Given the description of an element on the screen output the (x, y) to click on. 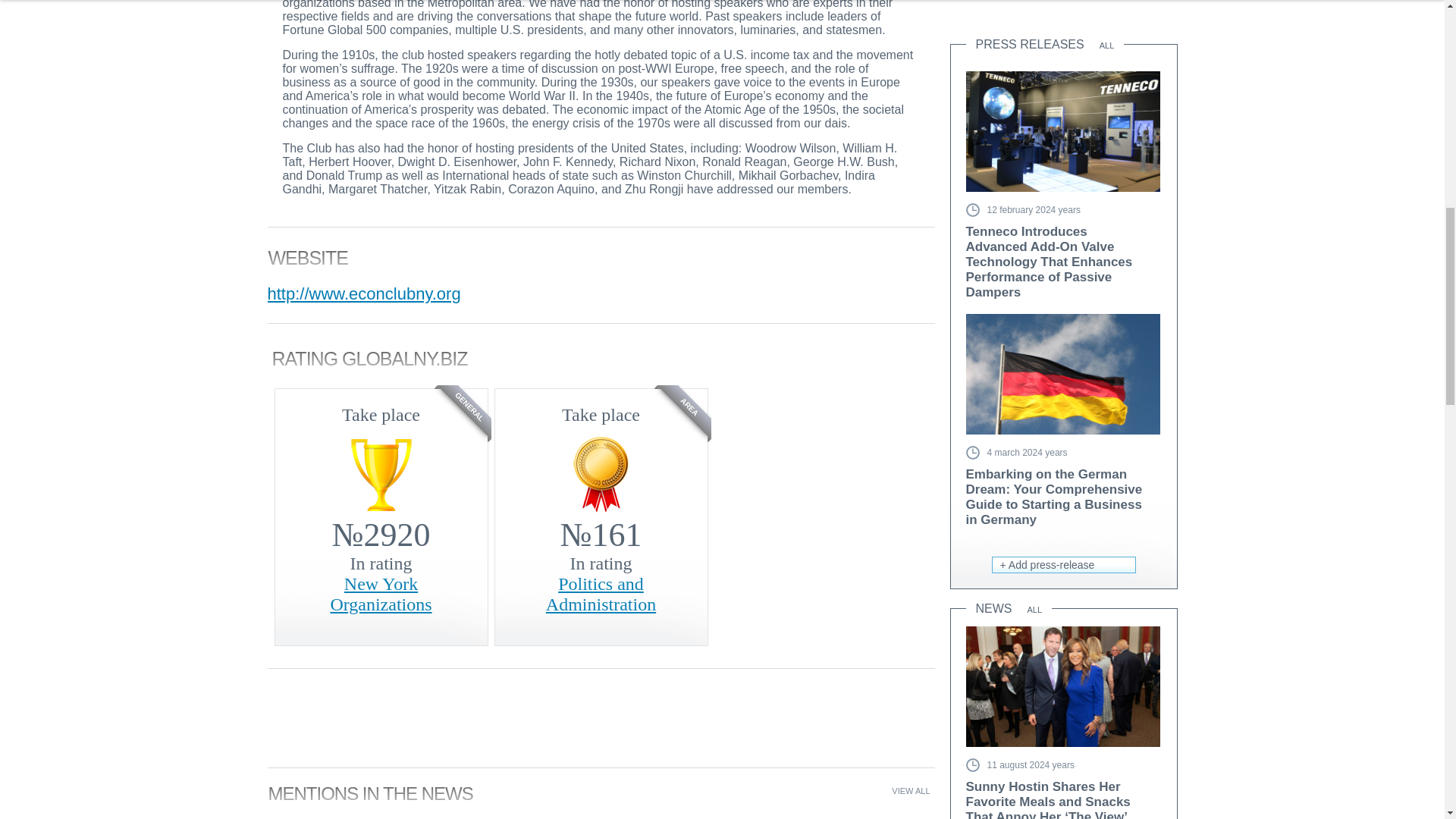
Politics and Administration (601, 594)
Advertisement (1063, 9)
New York Organizations (380, 594)
VIEW ALL (910, 790)
